Given the description of an element on the screen output the (x, y) to click on. 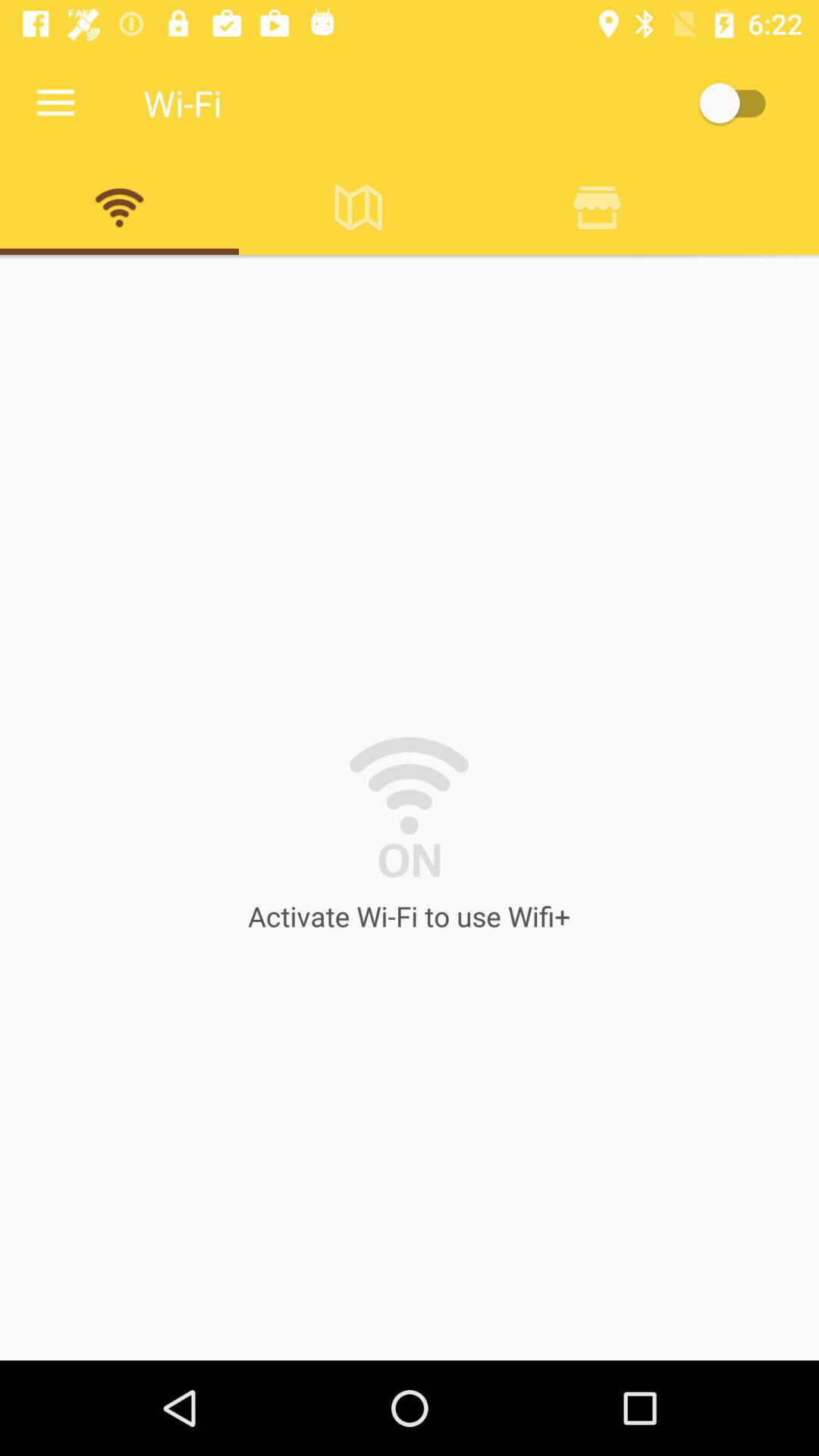
menu page (739, 103)
